Given the description of an element on the screen output the (x, y) to click on. 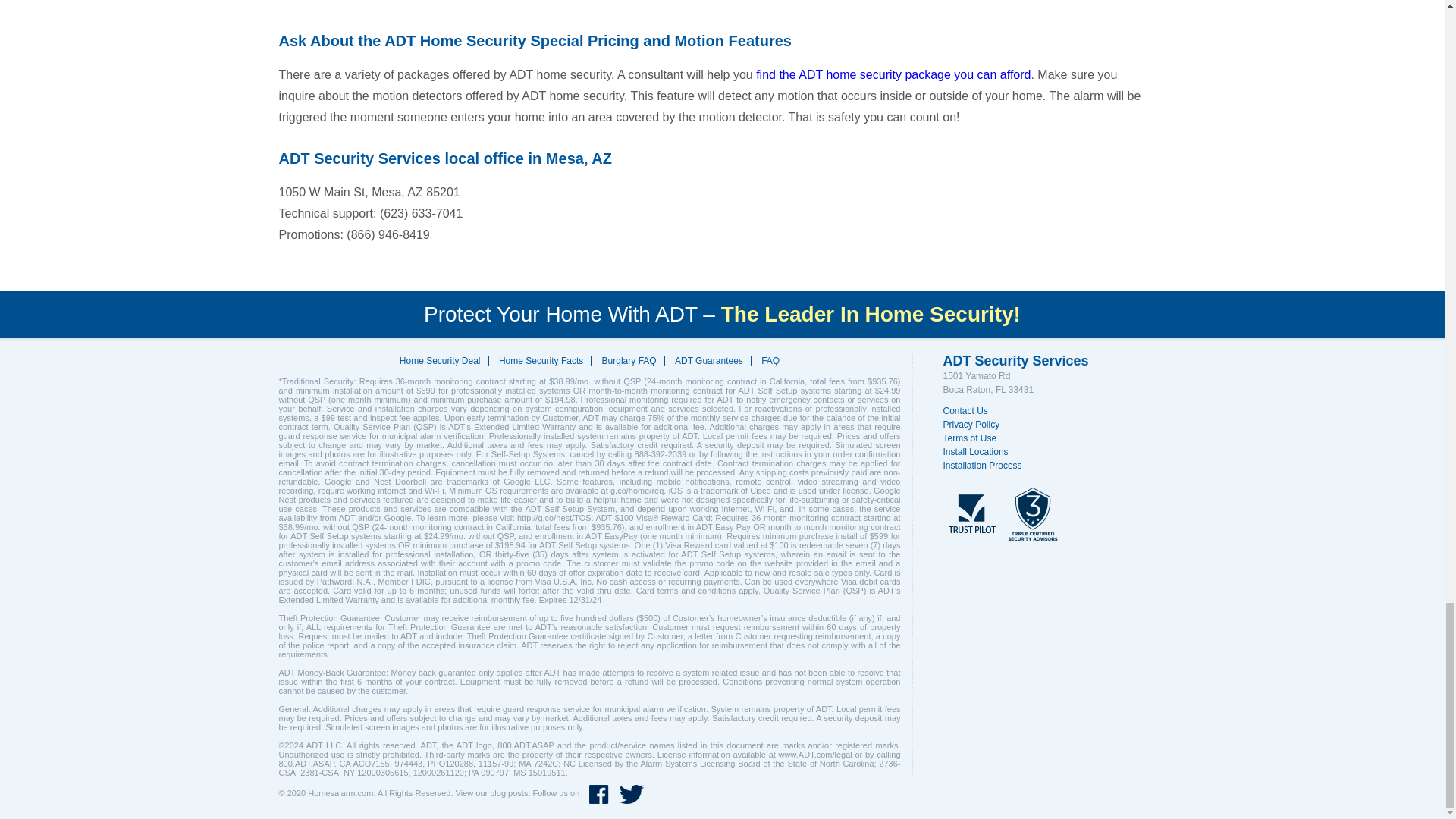
Installation Process (986, 465)
Privacy Policy (975, 424)
find the ADT home security package you can afford (892, 74)
find the package you can afford (892, 74)
FAQ (770, 360)
Burglary FAQ (628, 360)
ADT Guarantees (708, 360)
Home Security Deal (439, 360)
Contact Us (969, 410)
Terms of Use (973, 438)
posts (517, 793)
Install Locations (979, 451)
Home Security Facts (541, 360)
